Given the description of an element on the screen output the (x, y) to click on. 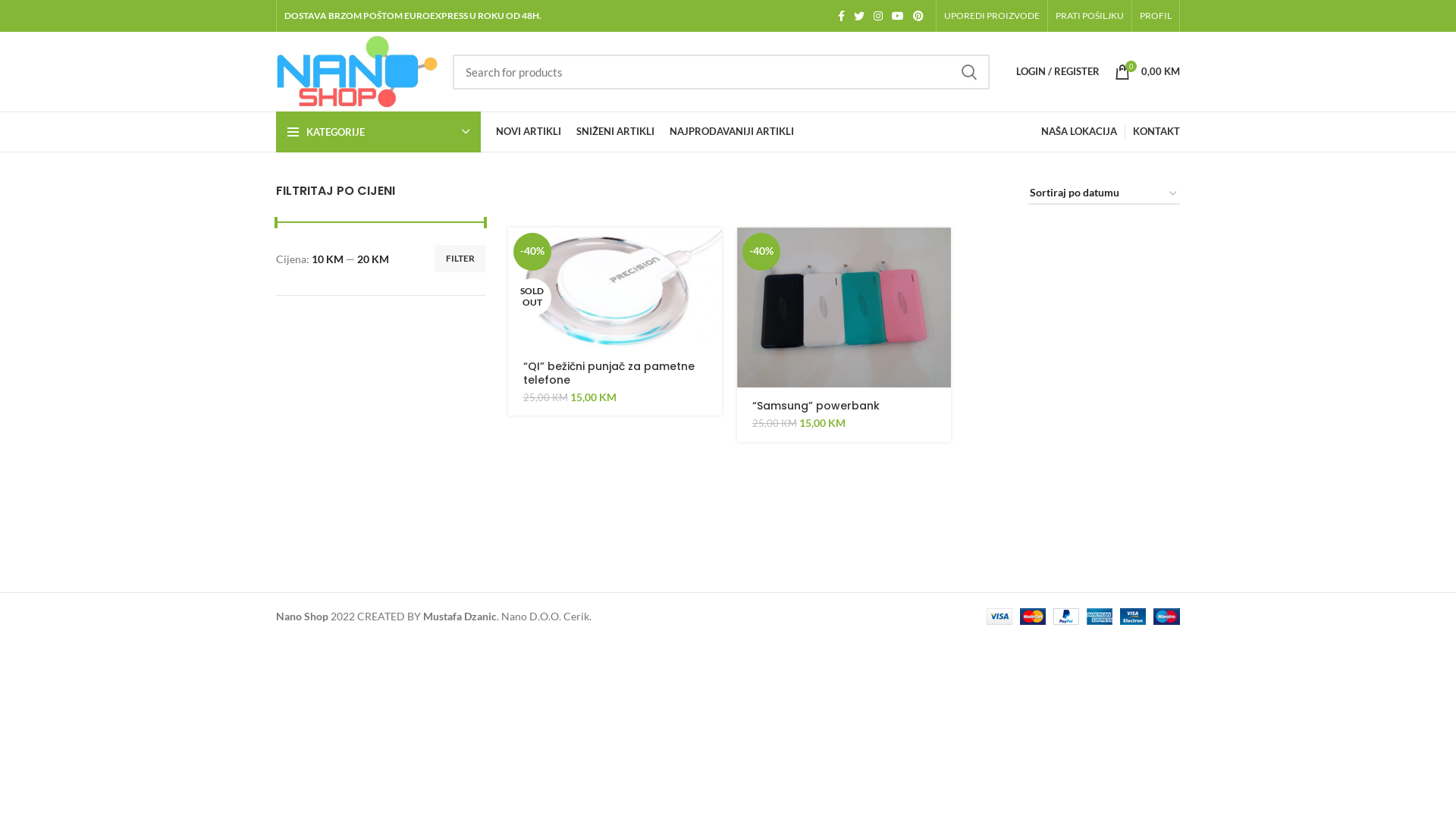
KONTAKT Element type: text (1156, 131)
Search for products Element type: hover (720, 71)
0
0,00 KM Element type: text (1147, 71)
NOVI ARTIKLI Element type: text (528, 131)
PROFIL Element type: text (1155, 15)
SEARCH Element type: text (969, 71)
NAJPRODAVANIJI ARTIKLI Element type: text (731, 131)
UPOREDI PROIZVODE Element type: text (991, 15)
-40%
SOLD OUT Element type: text (614, 287)
FILTER Element type: text (460, 258)
-40% Element type: text (843, 307)
LOGIN / REGISTER Element type: text (1057, 71)
